Given the description of an element on the screen output the (x, y) to click on. 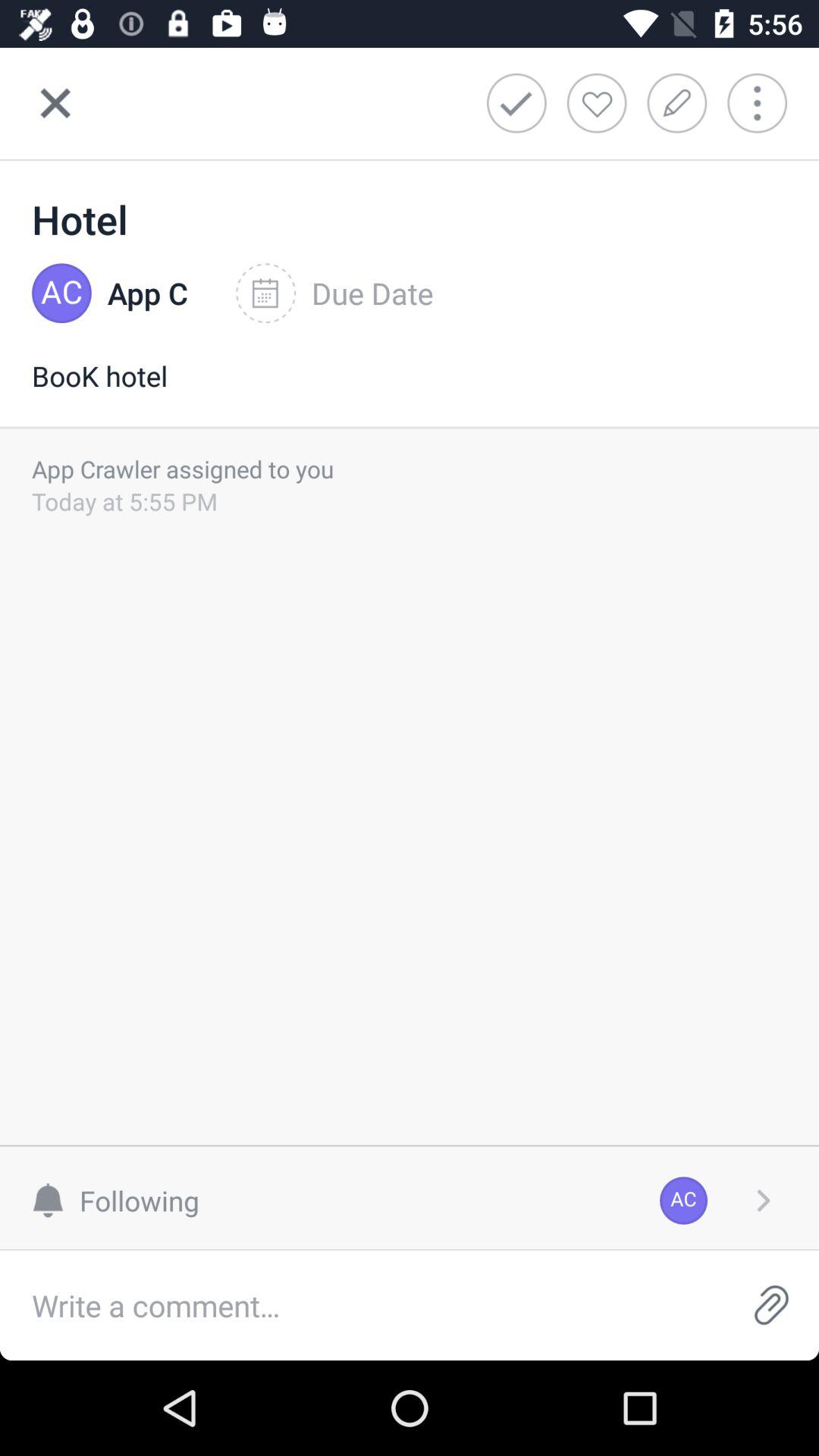
turn off icon below following item (361, 1305)
